Given the description of an element on the screen output the (x, y) to click on. 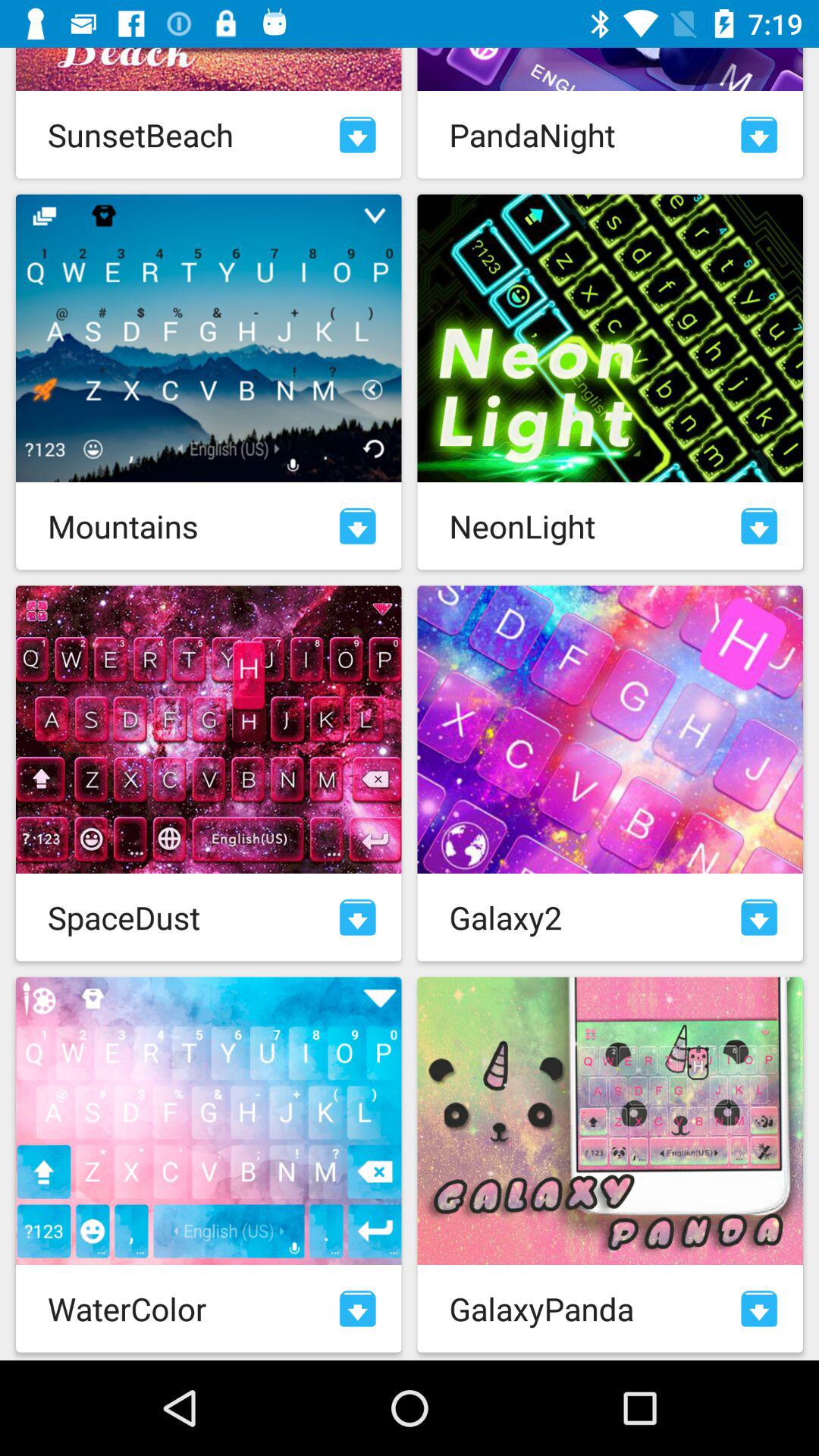
download theme (357, 917)
